Given the description of an element on the screen output the (x, y) to click on. 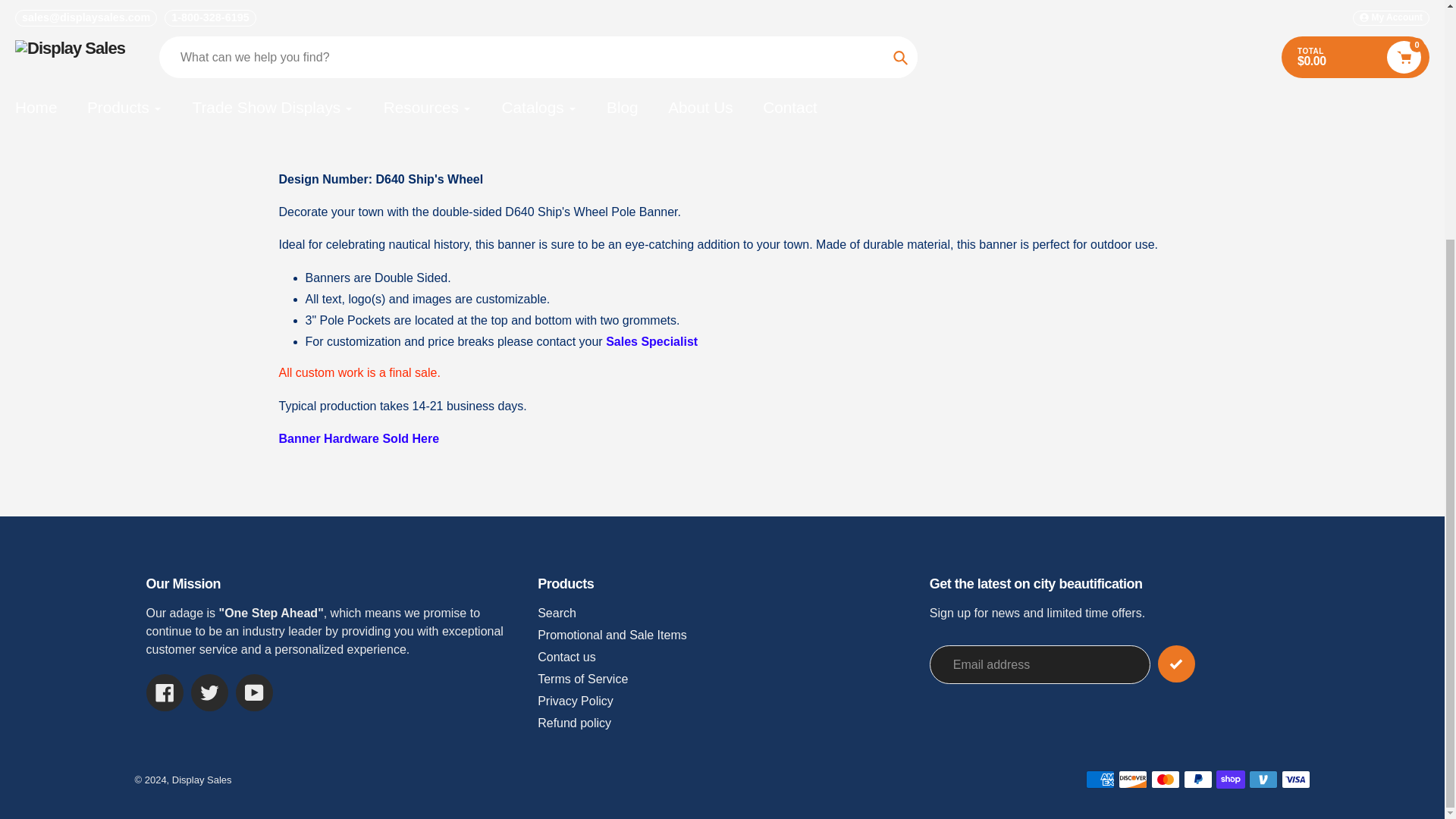
Display Sales Contact Us (651, 341)
